Given the description of an element on the screen output the (x, y) to click on. 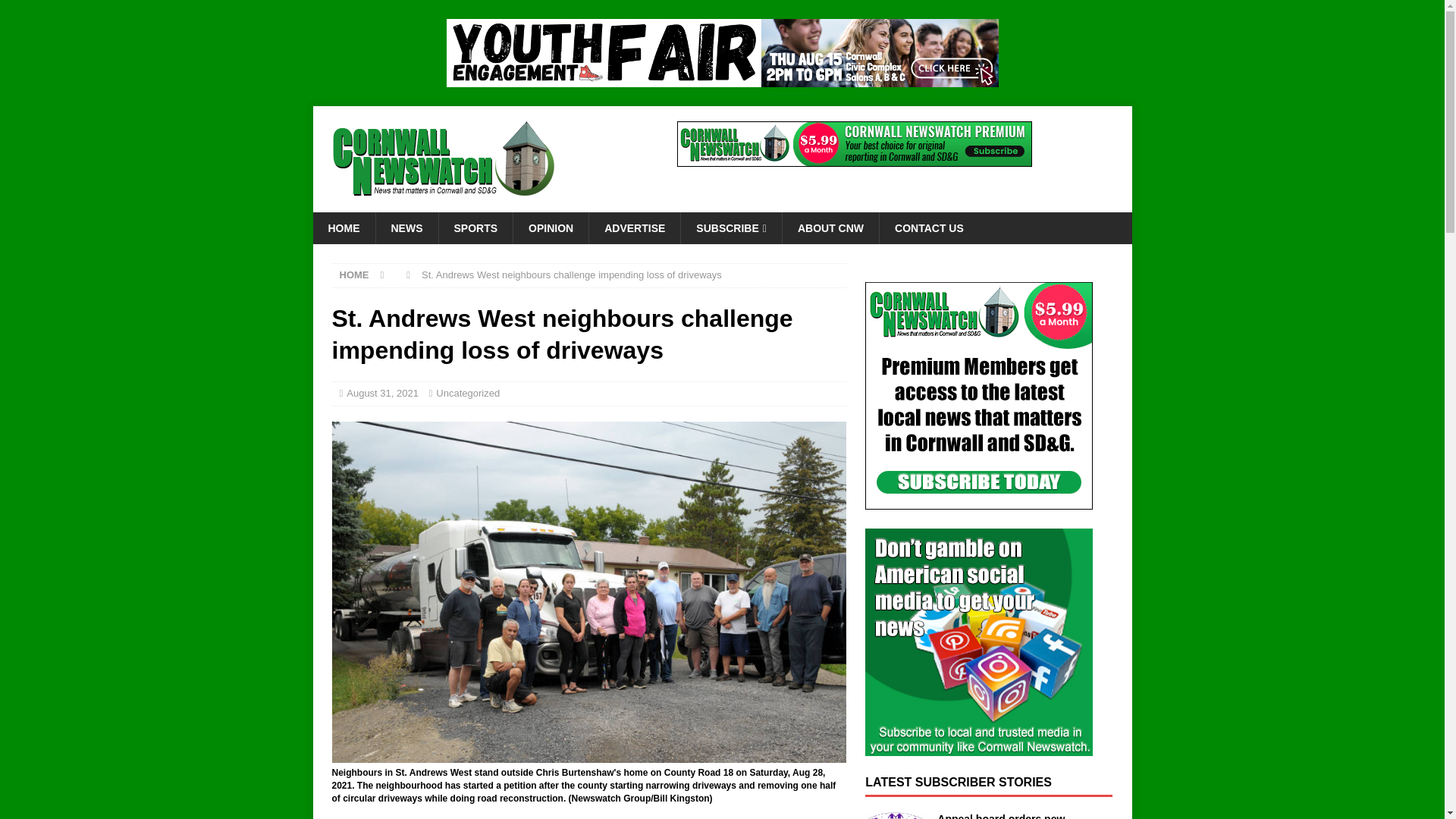
August 31, 2021 (382, 392)
SUBSCRIBE (730, 228)
NEWS (406, 228)
OPINION (550, 228)
CONTACT US (928, 228)
ABOUT CNW (830, 228)
ADVERTISE (633, 228)
SPORTS (475, 228)
HOME (354, 274)
HOME (343, 228)
